Given the description of an element on the screen output the (x, y) to click on. 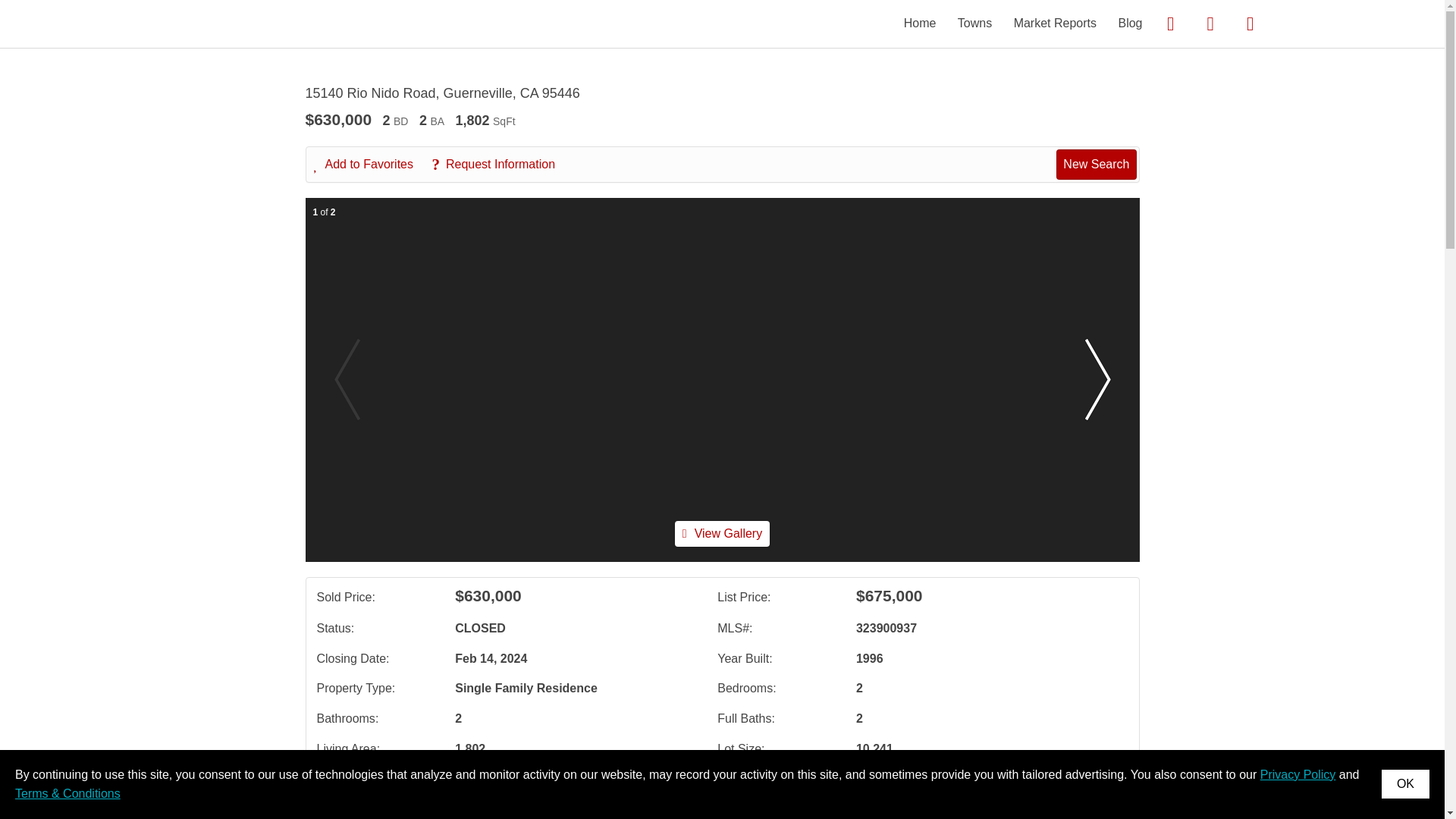
Request Information (500, 164)
Home (920, 22)
Market Reports (1054, 22)
Towns (974, 22)
View Gallery (722, 533)
New Search (1096, 164)
Blog (1129, 22)
View Gallery (722, 533)
Add to Favorites (371, 164)
